Given the description of an element on the screen output the (x, y) to click on. 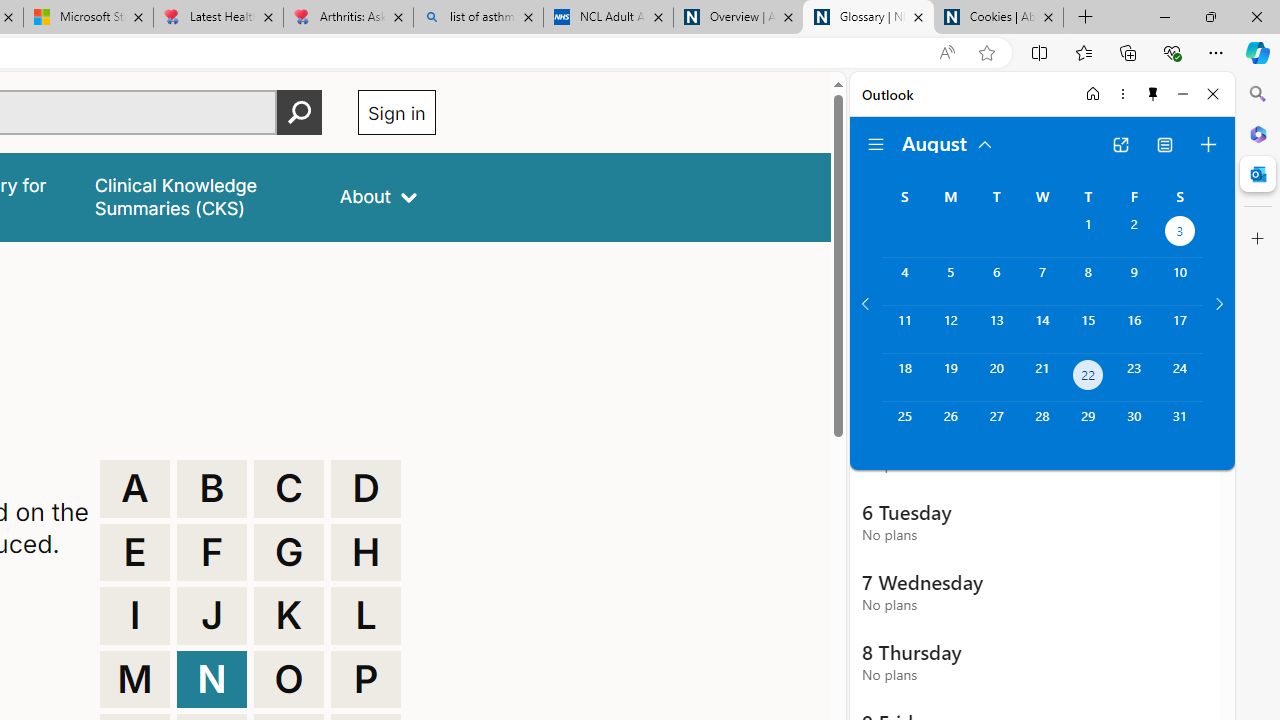
L (365, 615)
H (365, 551)
Thursday, August 15, 2024.  (1088, 329)
B (212, 488)
Copilot (Ctrl+Shift+.) (1258, 52)
More options (1122, 93)
false (198, 196)
Friday, August 23, 2024.  (1134, 377)
Thursday, August 1, 2024.  (1088, 233)
Friday, August 16, 2024.  (1134, 329)
Close Customize pane (1258, 239)
P (365, 679)
Thursday, August 8, 2024.  (1088, 281)
I (134, 615)
